Given the description of an element on the screen output the (x, y) to click on. 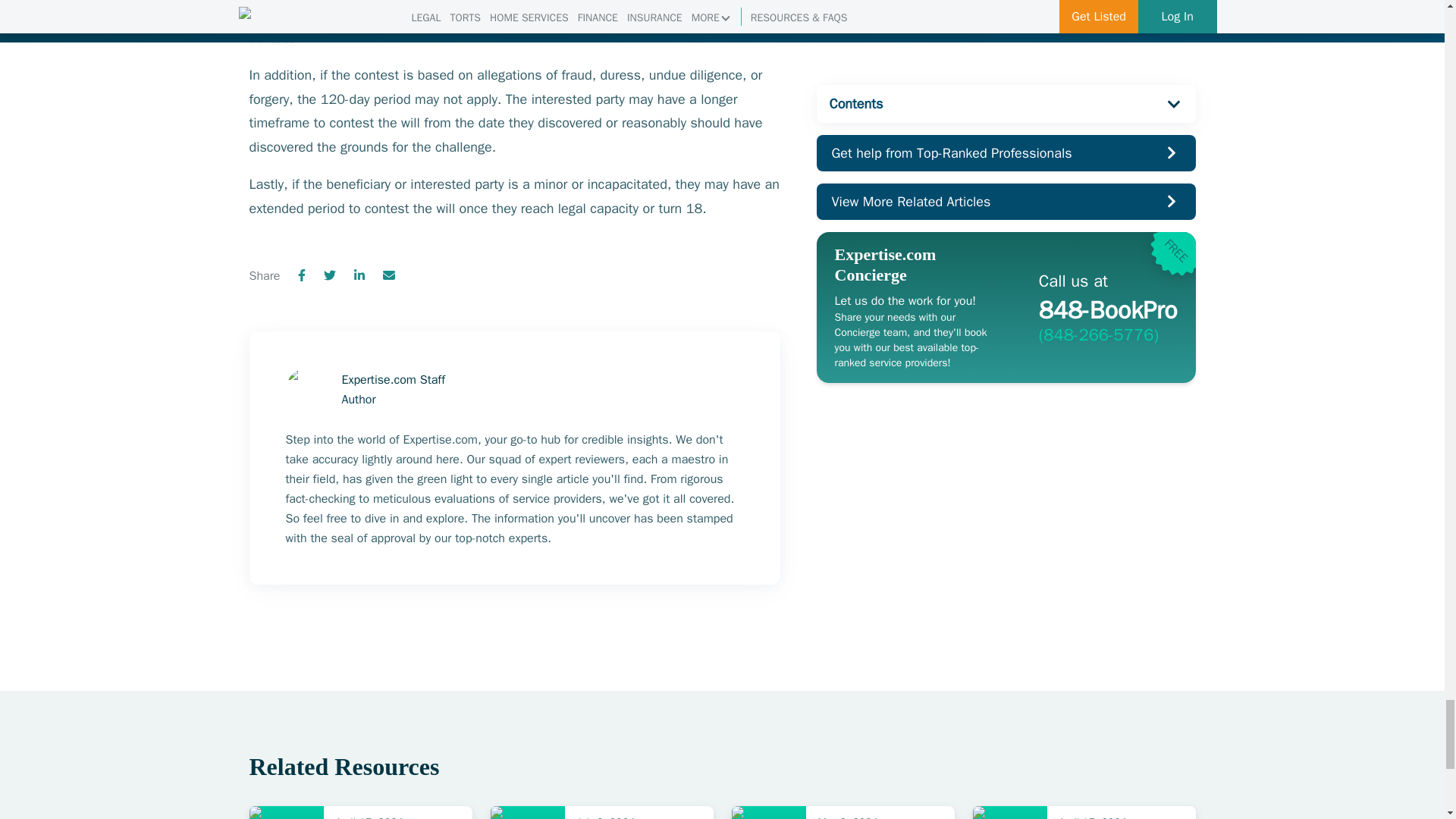
Share to LinkedIn (359, 275)
Share to Facebook (301, 275)
Share to Twitter (329, 275)
Share with mail (388, 275)
